Given the description of an element on the screen output the (x, y) to click on. 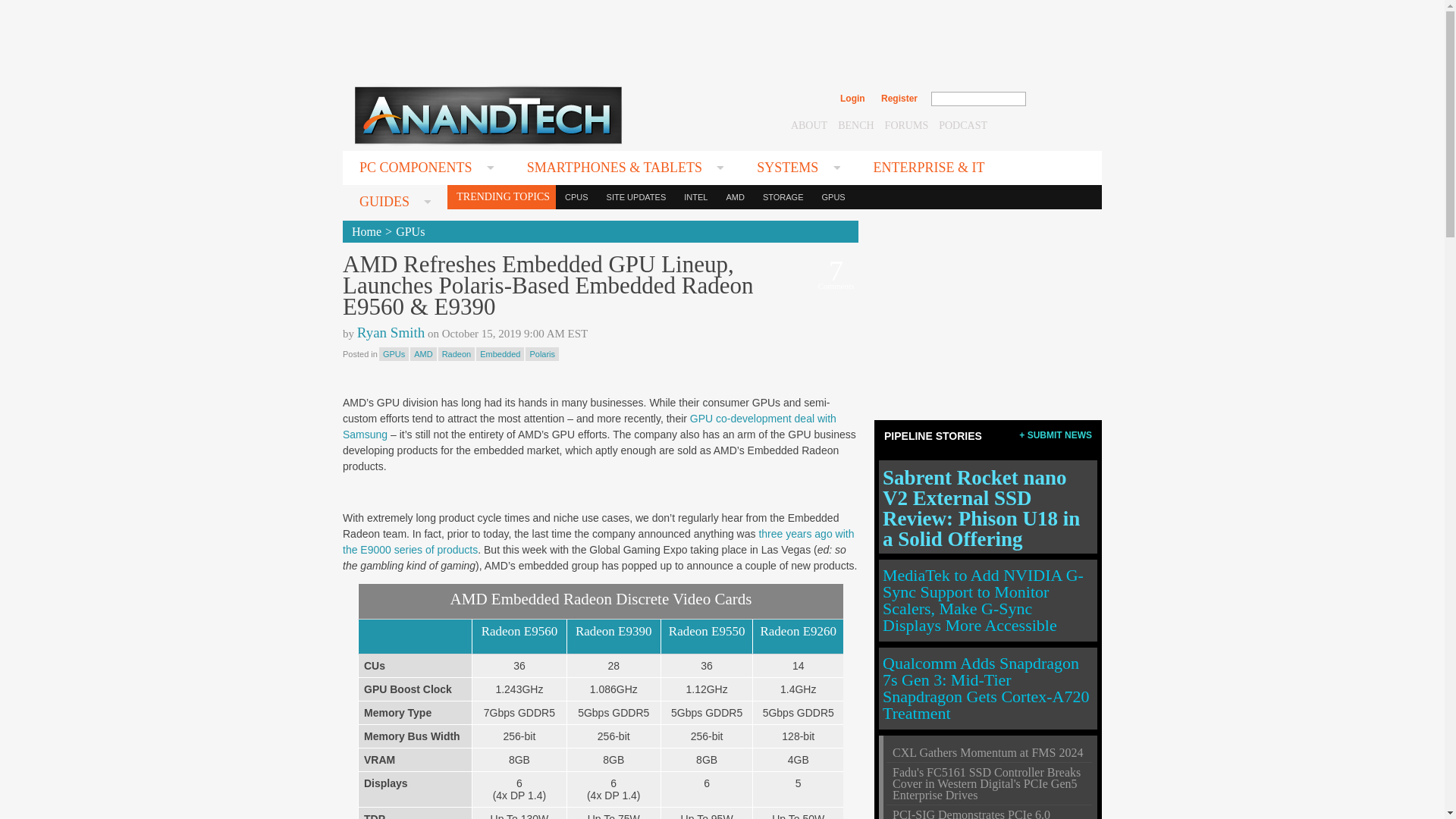
PODCAST (963, 125)
search (1059, 98)
BENCH (855, 125)
search (1059, 98)
Register (898, 98)
Login (852, 98)
FORUMS (906, 125)
ABOUT (808, 125)
search (1059, 98)
